Given the description of an element on the screen output the (x, y) to click on. 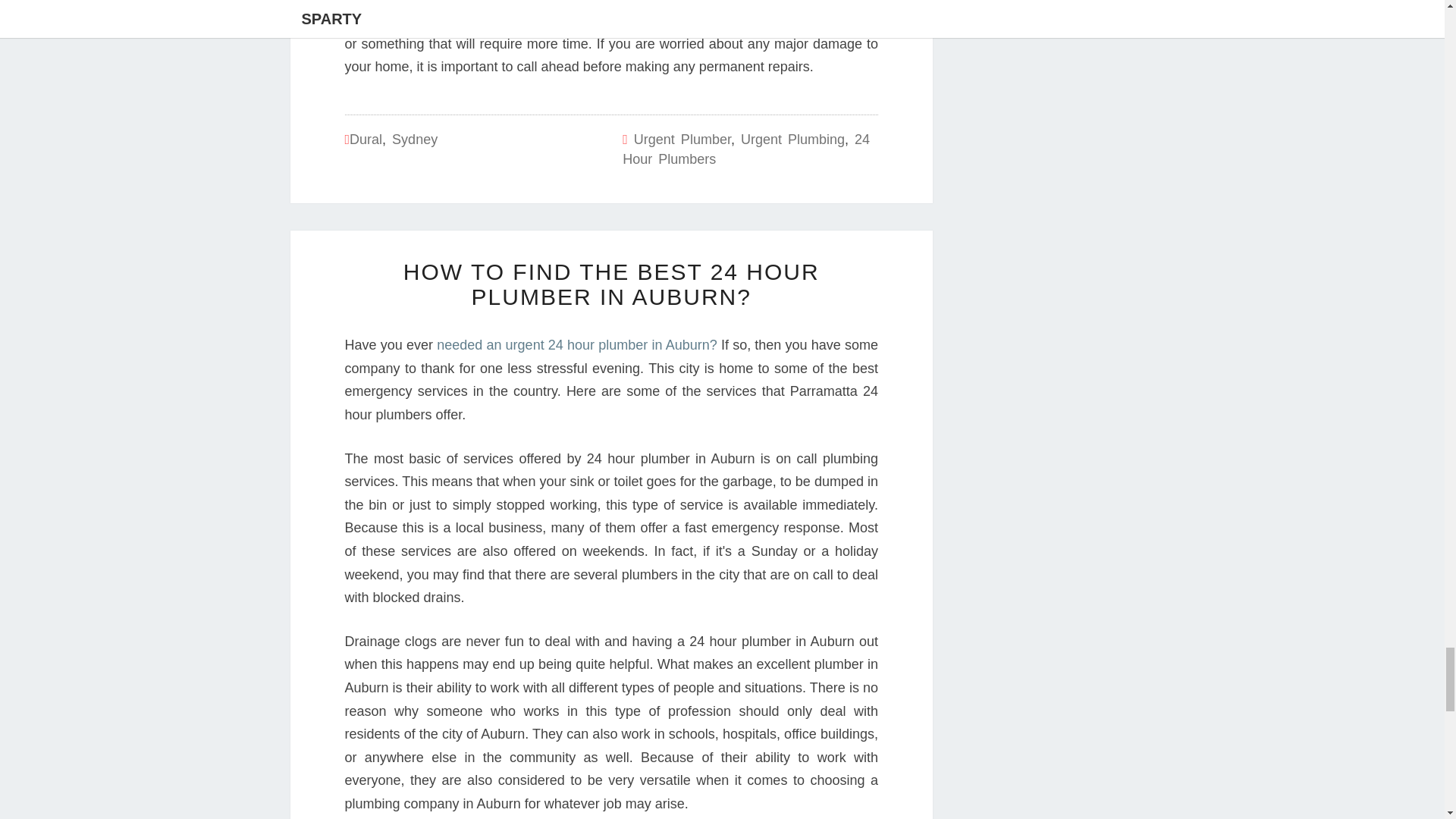
Sydney (414, 139)
Dural (365, 139)
